Given the description of an element on the screen output the (x, y) to click on. 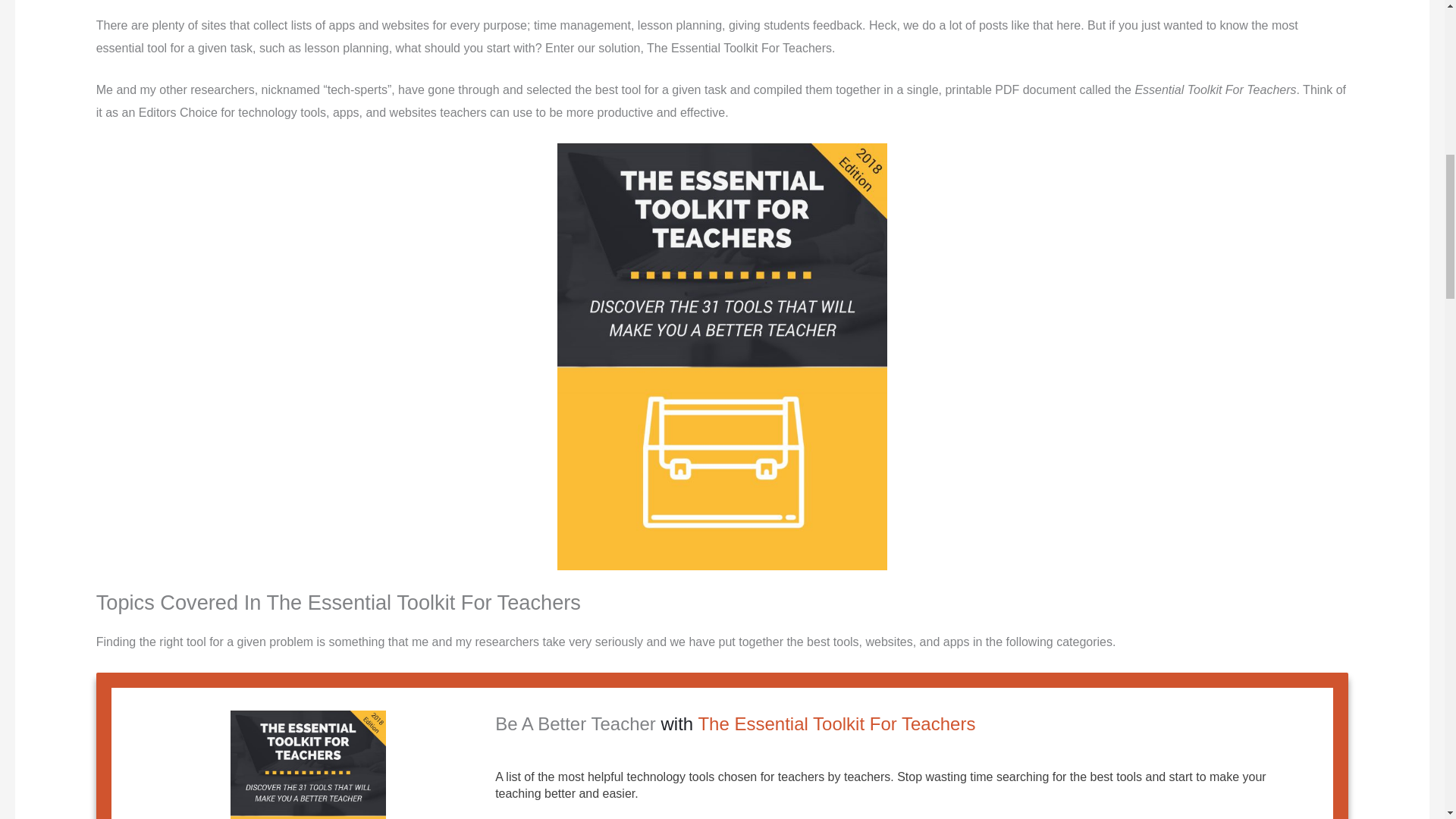
THE ESSENTIAL TOOLKIT FOR TEACHERS (307, 764)
